Given the description of an element on the screen output the (x, y) to click on. 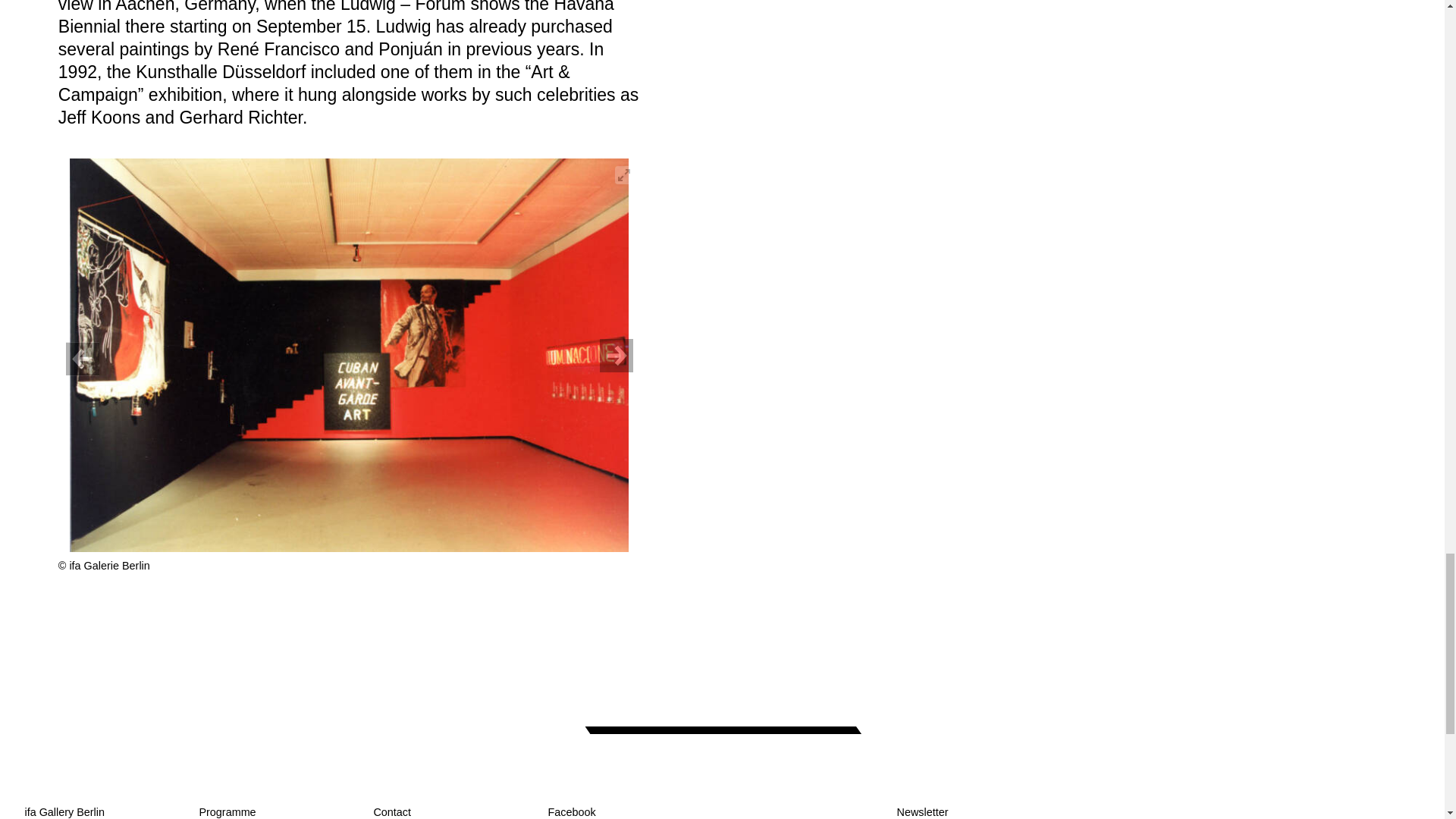
Facebook (571, 812)
ifa Gallery Berlin (64, 812)
View full-screen (623, 175)
Programme (227, 812)
Contact (391, 812)
